Given the description of an element on the screen output the (x, y) to click on. 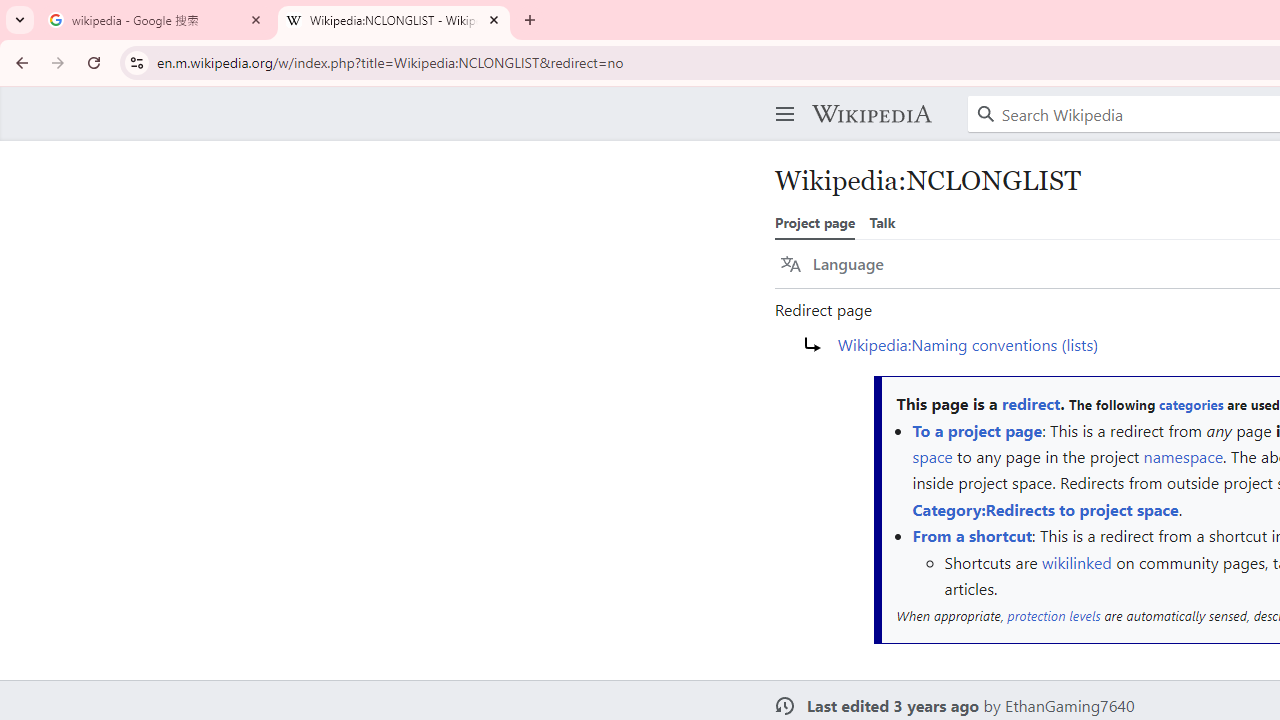
categories (1190, 404)
AutomationID: main-menu-input (781, 98)
redirect (1030, 403)
protection levels (1053, 615)
Category:Redirects to project space (1044, 508)
From a shortcut (971, 535)
Wikipedia:Naming conventions (lists) (968, 343)
Wikipedia:NCLONGLIST - Wikipedia (394, 20)
Wikipedia (871, 114)
